Given the description of an element on the screen output the (x, y) to click on. 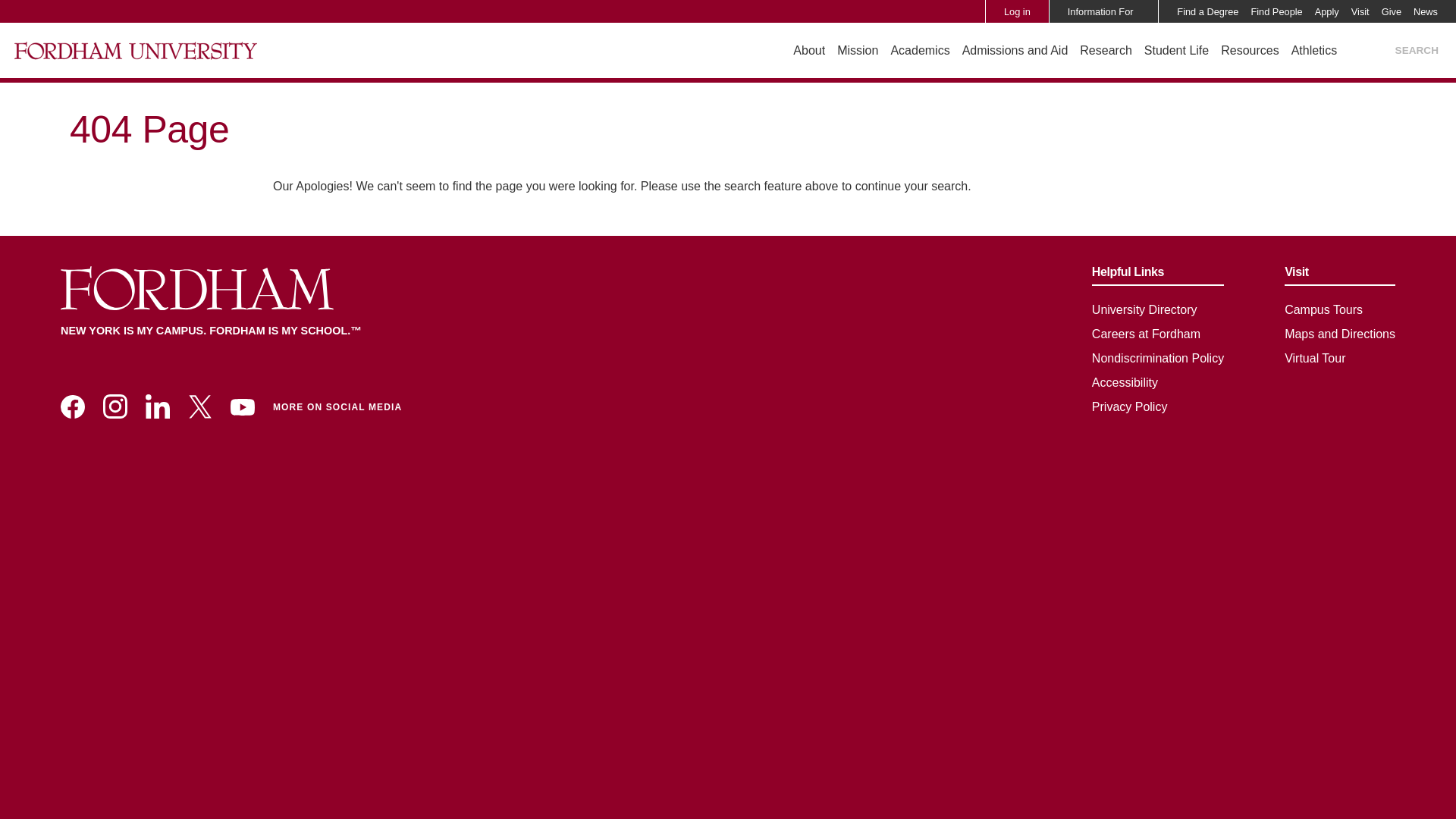
Mission (857, 49)
Give (1391, 11)
Find People (1275, 11)
Apply (1326, 11)
News (1425, 11)
Information for dropdown links (1138, 10)
Log in (1016, 11)
Search icon (1377, 51)
Visit (1360, 11)
Find a Degree (1207, 11)
